Given the description of an element on the screen output the (x, y) to click on. 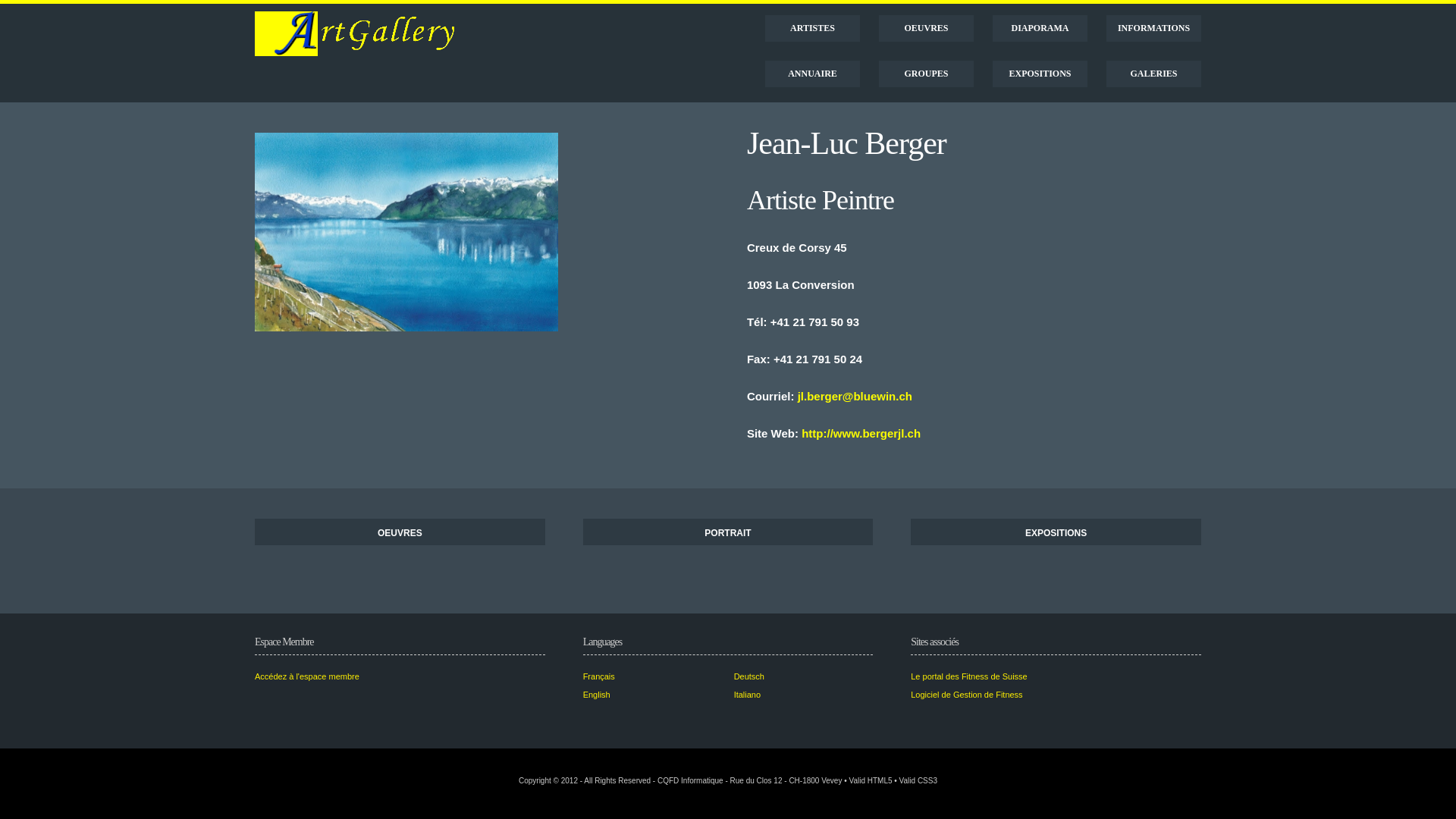
Le portal des Fitness de Suisse Element type: text (968, 675)
ARTISTES Element type: text (812, 28)
CQFD Informatique - Rue du Clos 12 - CH-1800 Vevey Element type: text (749, 780)
GROUPES Element type: text (925, 73)
http://www.bergerjl.ch Element type: text (860, 432)
Peinture - Aquarelle - Berger Jean-Luc Element type: hover (406, 231)
Deutsch Element type: text (749, 675)
GALERIES Element type: text (1153, 73)
English Element type: text (596, 694)
Logo ArtGallery Element type: hover (355, 33)
DIAPORAMA Element type: text (1039, 28)
OEUVRES Element type: text (925, 28)
ANNUAIRE Element type: text (812, 73)
OEUVRES Element type: text (399, 531)
Valid CSS3 Element type: text (918, 780)
Logiciel de Gestion de Fitness Element type: text (966, 694)
INFORMATIONS Element type: text (1153, 28)
Italiano Element type: text (747, 694)
EXPOSITIONS Element type: text (1039, 73)
jl.berger@bluewin.ch Element type: text (854, 395)
EXPOSITIONS Element type: text (1055, 531)
Valid HTML5 Element type: text (869, 780)
PORTRAIT Element type: text (728, 531)
